Given the description of an element on the screen output the (x, y) to click on. 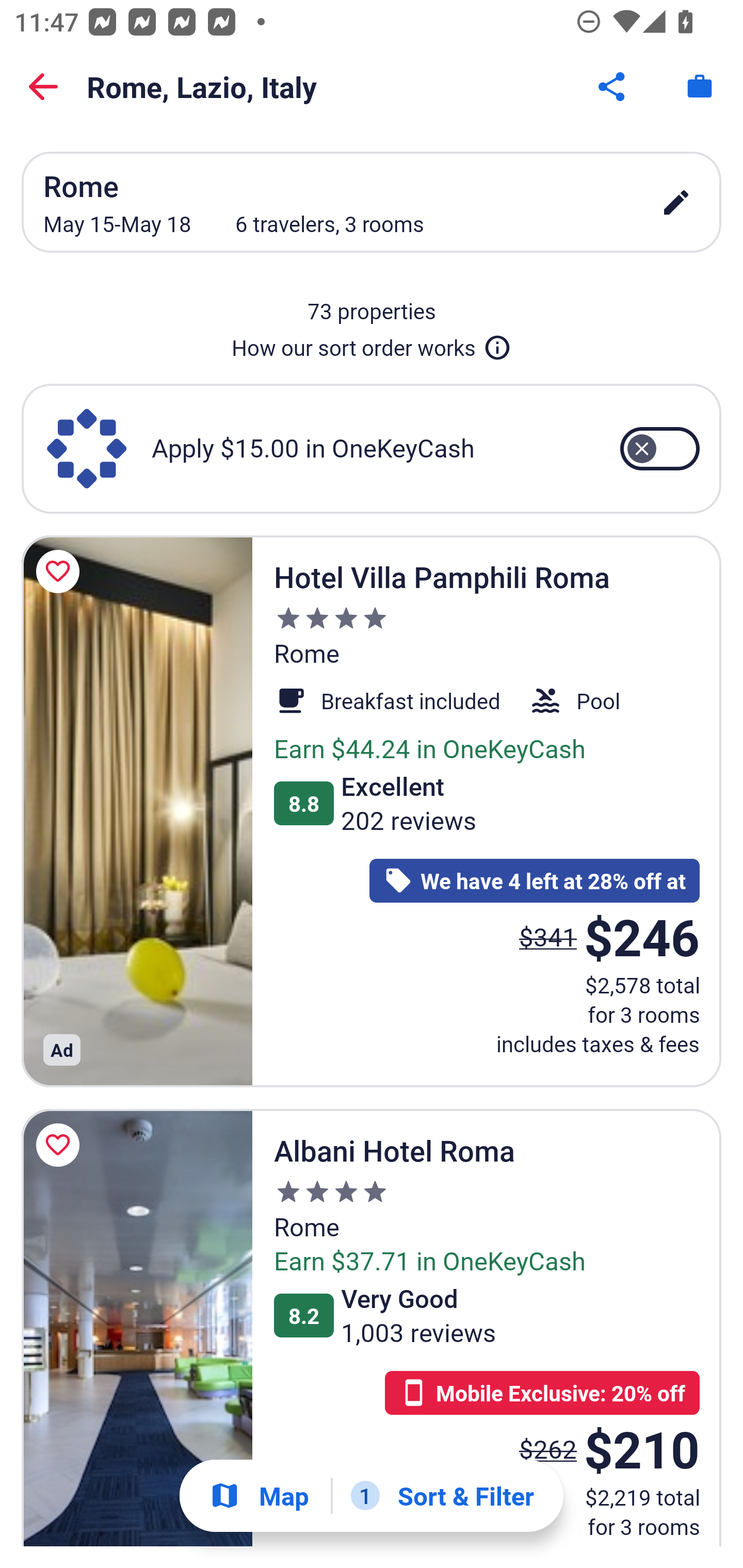
Back (43, 86)
Share Button (612, 86)
Trips. Button (699, 86)
Rome May 15-May 18 6 travelers, 3 rooms edit (371, 202)
How our sort order works (371, 344)
Save Hotel Villa Pamphili Roma to a trip (61, 571)
Hotel Villa Pamphili Roma (136, 810)
$341 The price was $341 (547, 936)
Save Albani Hotel Roma to a trip (61, 1145)
Albani Hotel Roma (136, 1327)
$262 The price was $262 (547, 1448)
1 Sort & Filter 1 Filter applied. Filters Button (442, 1495)
Show map Map Show map Button (258, 1495)
